Given the description of an element on the screen output the (x, y) to click on. 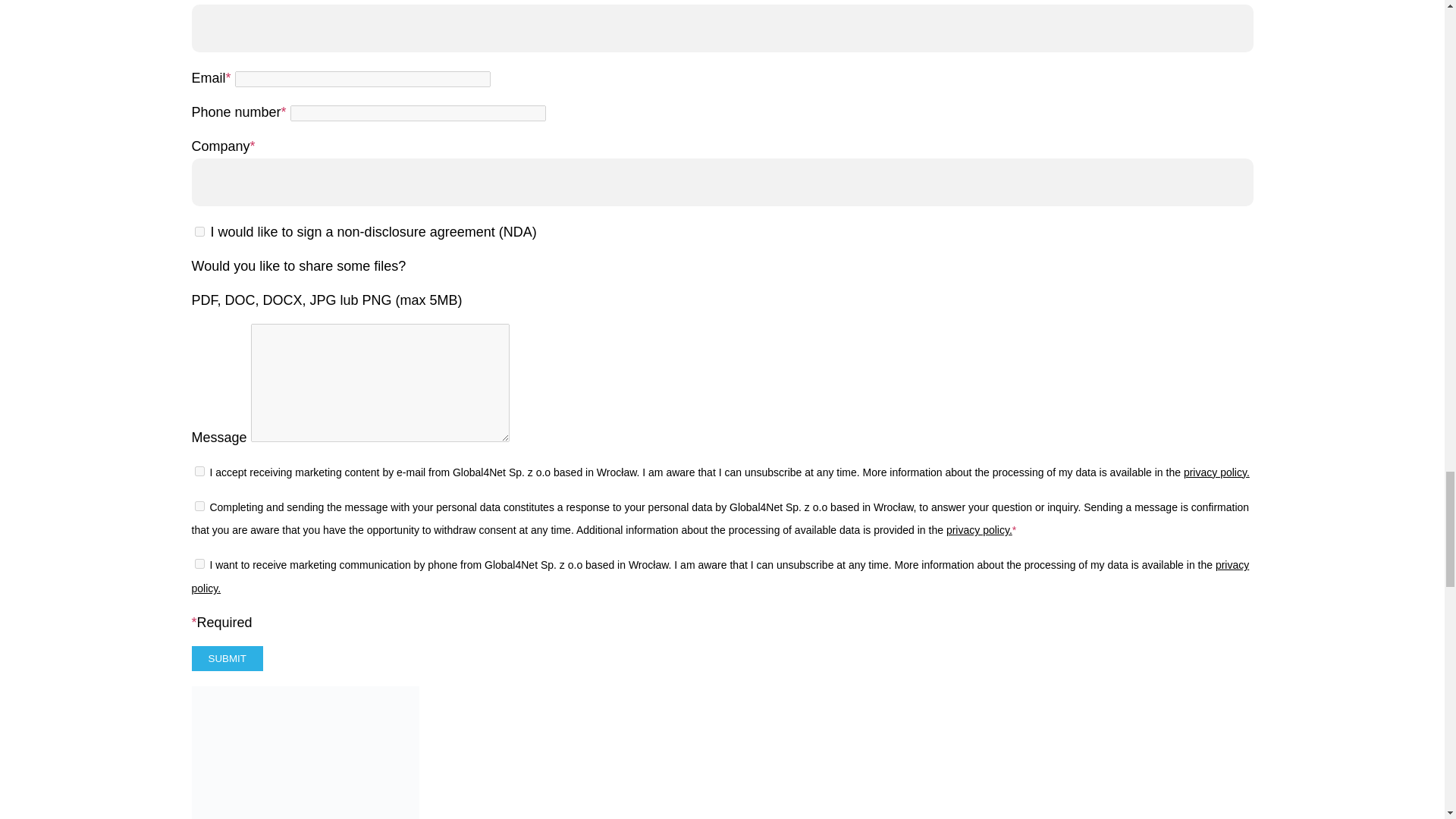
1 (198, 470)
1 (198, 506)
privacy policy. (1216, 472)
1 (198, 563)
1 (198, 231)
SUBMIT (226, 658)
